Given the description of an element on the screen output the (x, y) to click on. 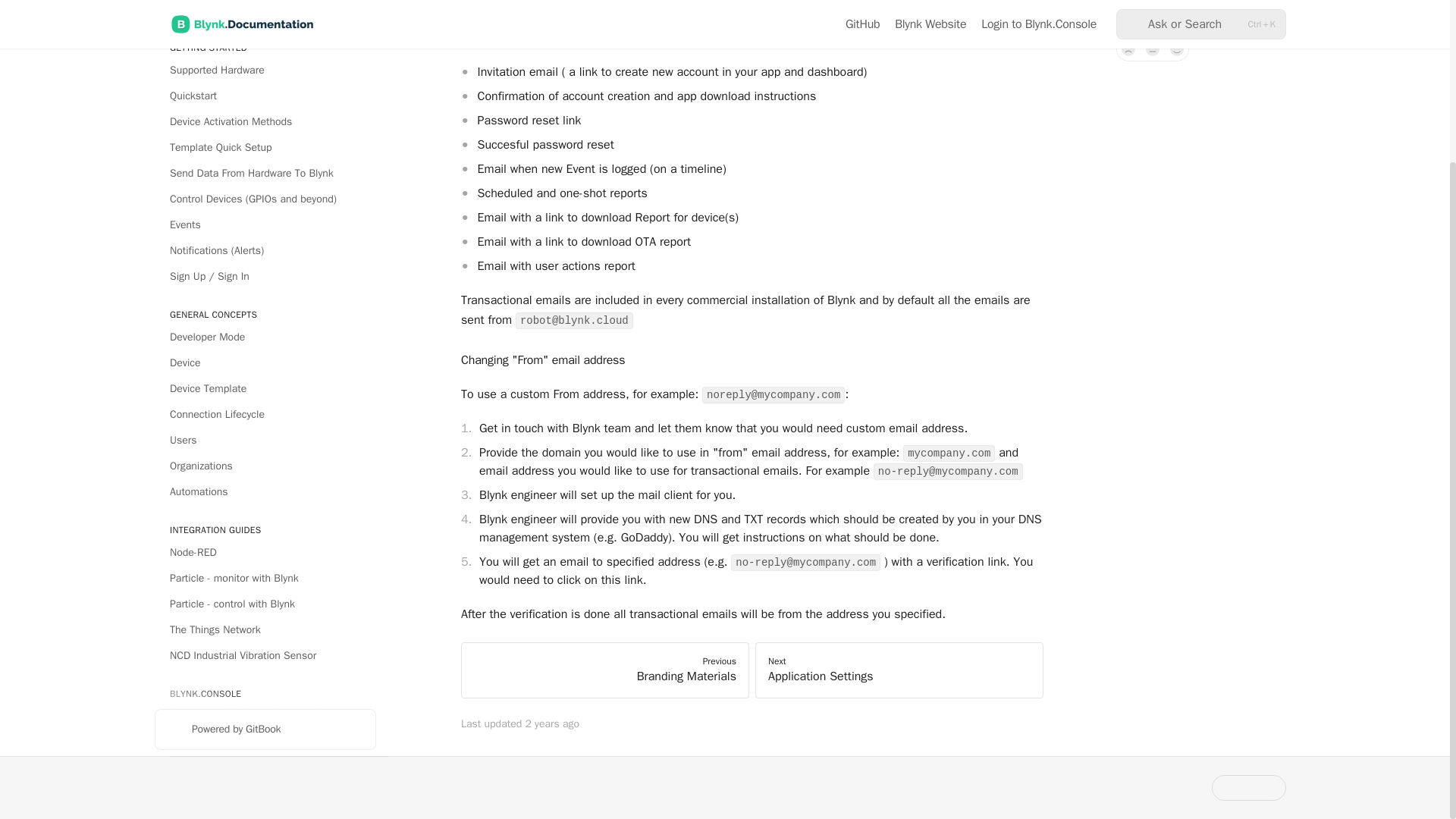
Developer Mode (264, 197)
Send Data From Hardware To Blynk (264, 33)
Organizations (264, 326)
Device (264, 223)
Template Quick Setup (264, 10)
Events (264, 85)
Device Template (264, 249)
Users (264, 300)
Automations (264, 352)
Connection Lifecycle (264, 274)
